Given the description of an element on the screen output the (x, y) to click on. 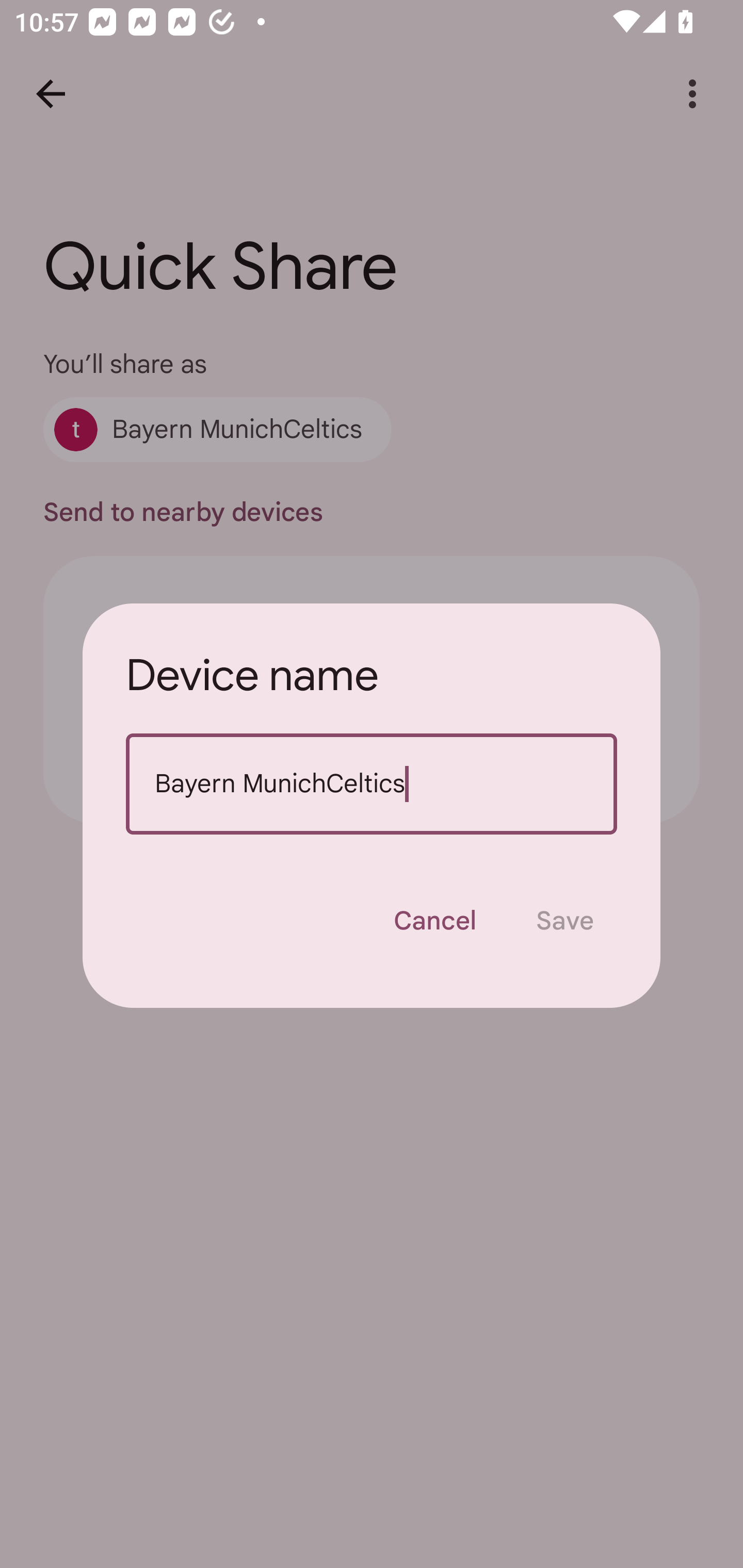
Bayern MunichCeltics Device name (371, 783)
Cancel (434, 921)
Save (564, 921)
